Given the description of an element on the screen output the (x, y) to click on. 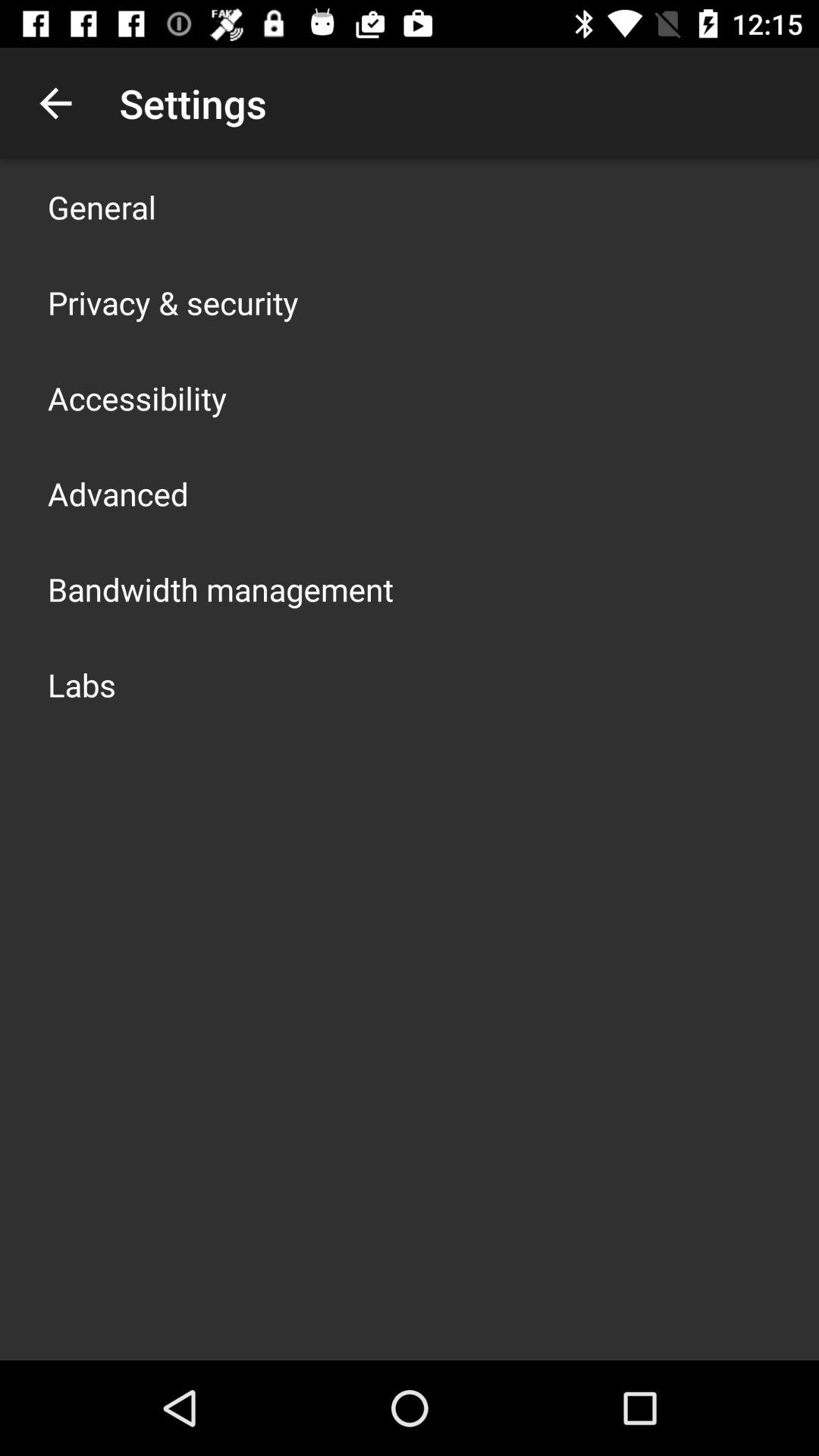
tap the item above the labs (220, 588)
